Given the description of an element on the screen output the (x, y) to click on. 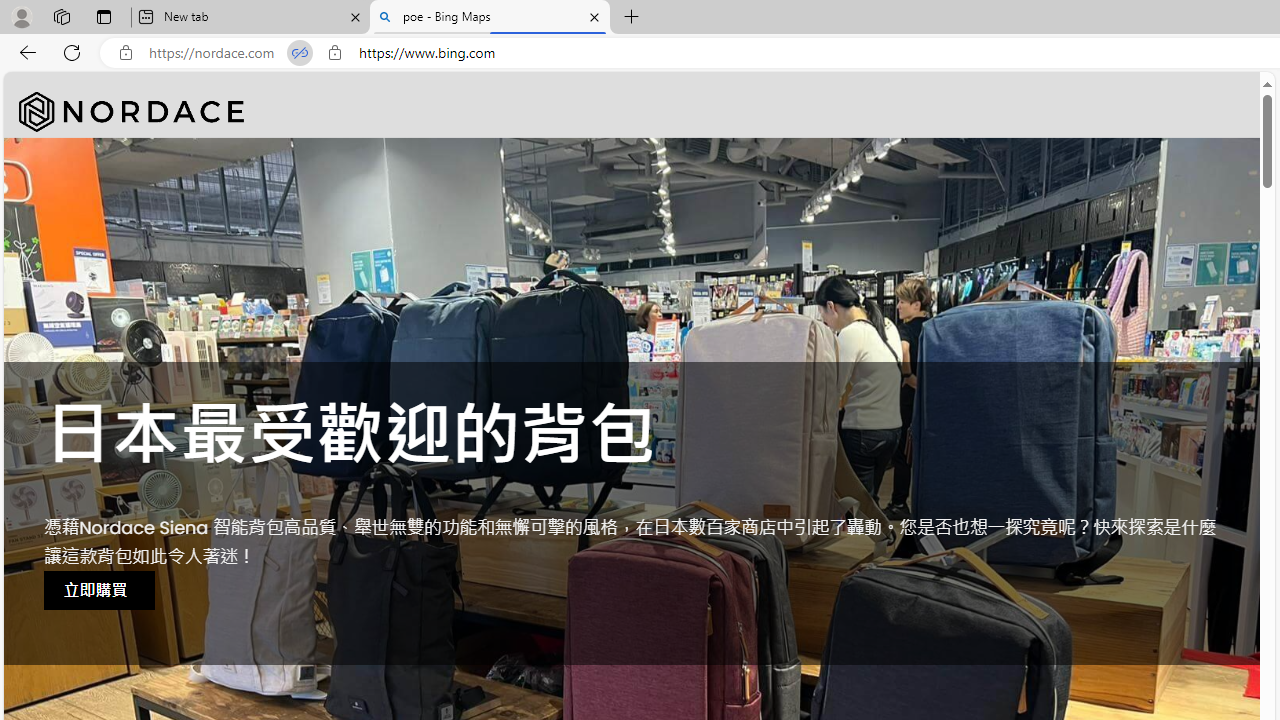
View site information (334, 53)
poe - Bing Maps (490, 17)
Personal Profile (21, 16)
Refresh (72, 52)
Back (24, 52)
New tab (250, 17)
New Tab (632, 17)
Workspaces (61, 16)
Tabs in split screen (299, 53)
Nordace (131, 111)
Tab actions menu (104, 16)
Close tab (594, 16)
